Given the description of an element on the screen output the (x, y) to click on. 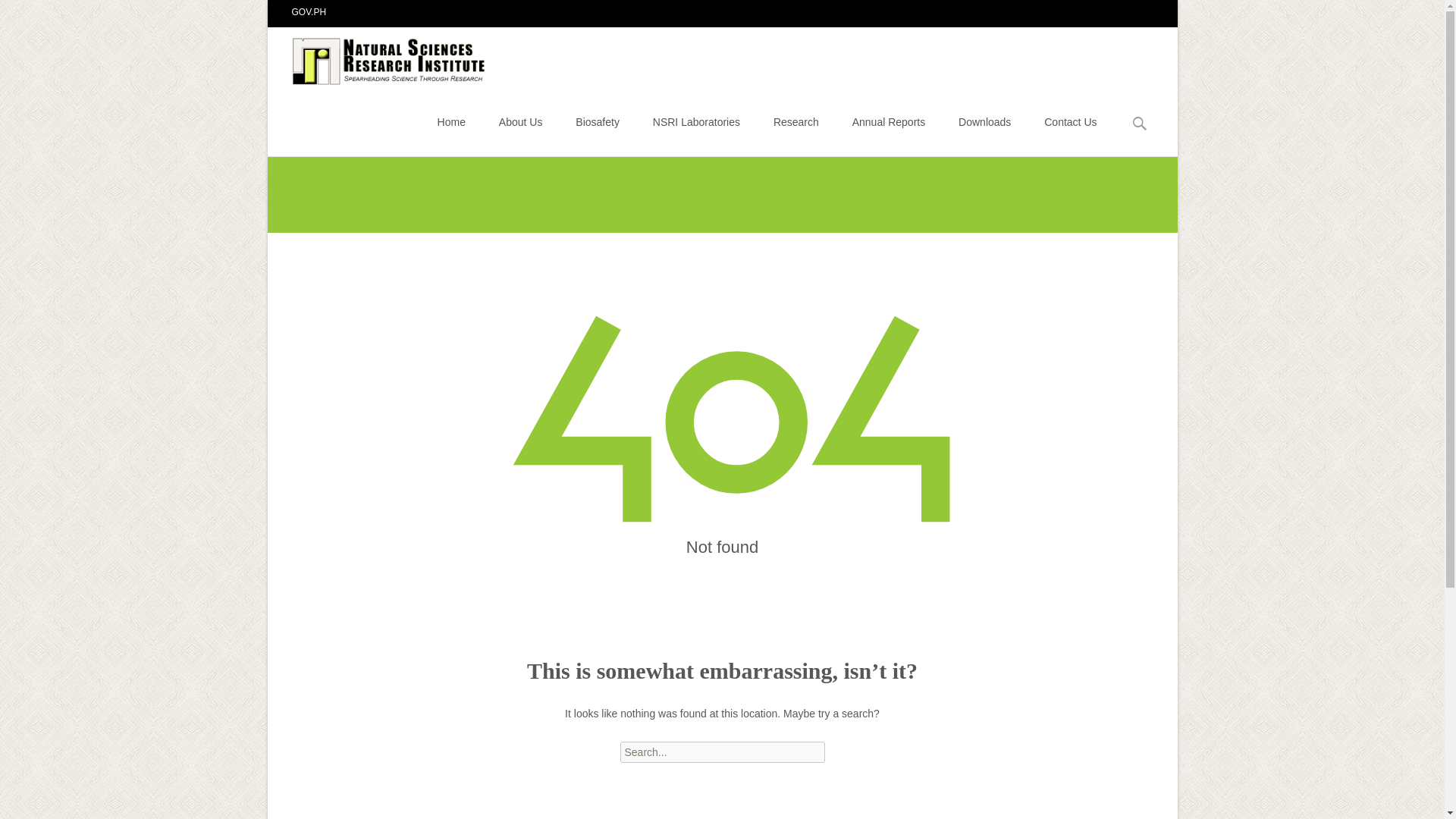
GOV.PH (308, 11)
NSRI Laboratories (695, 121)
Search (18, 14)
Search for: (722, 752)
Annual Reports (888, 121)
Search (34, 14)
Natural Sciences Research Institute (378, 57)
Search for: (1139, 123)
